Given the description of an element on the screen output the (x, y) to click on. 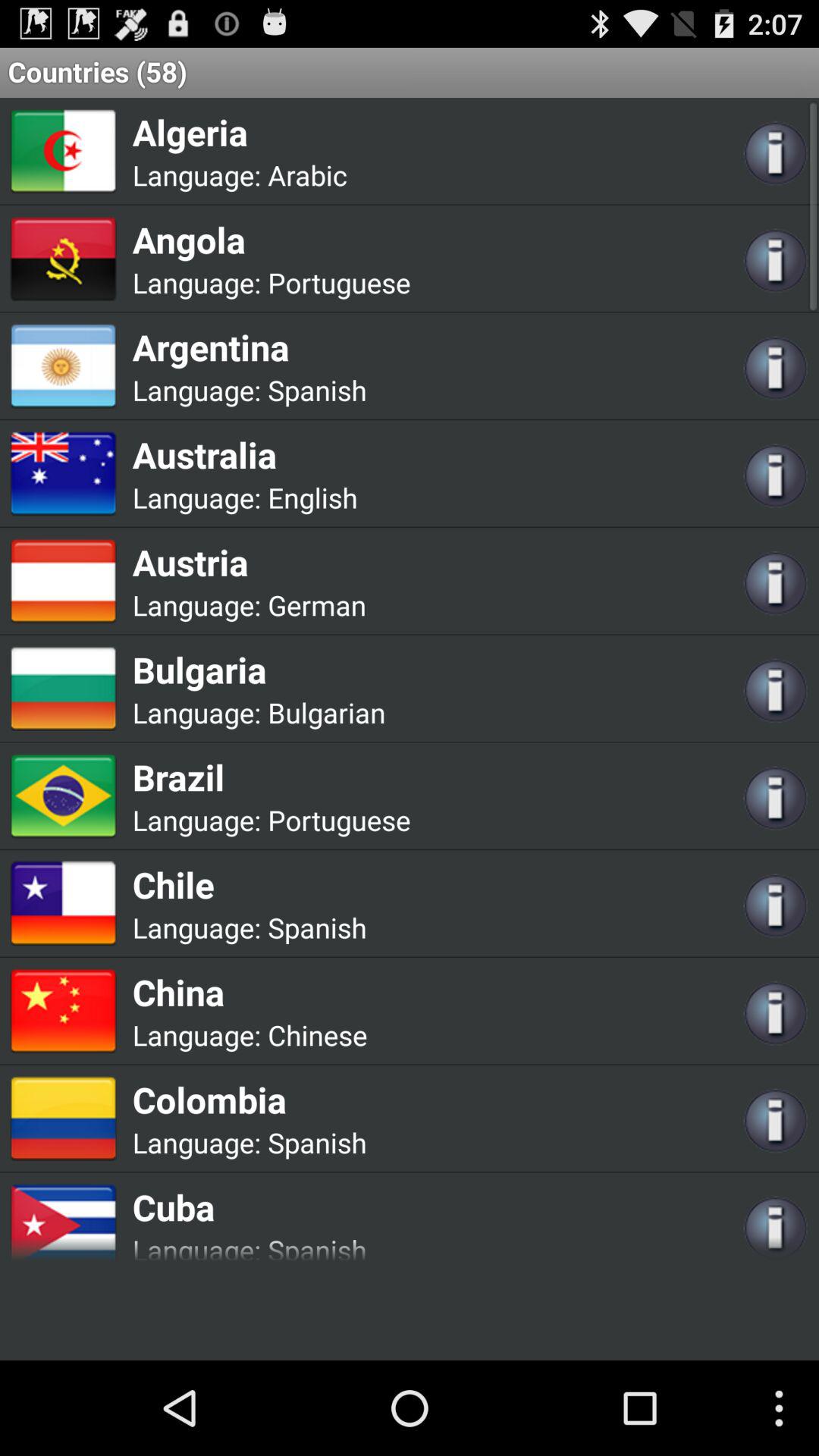
launch app below bulgaria icon (326, 712)
